Given the description of an element on the screen output the (x, y) to click on. 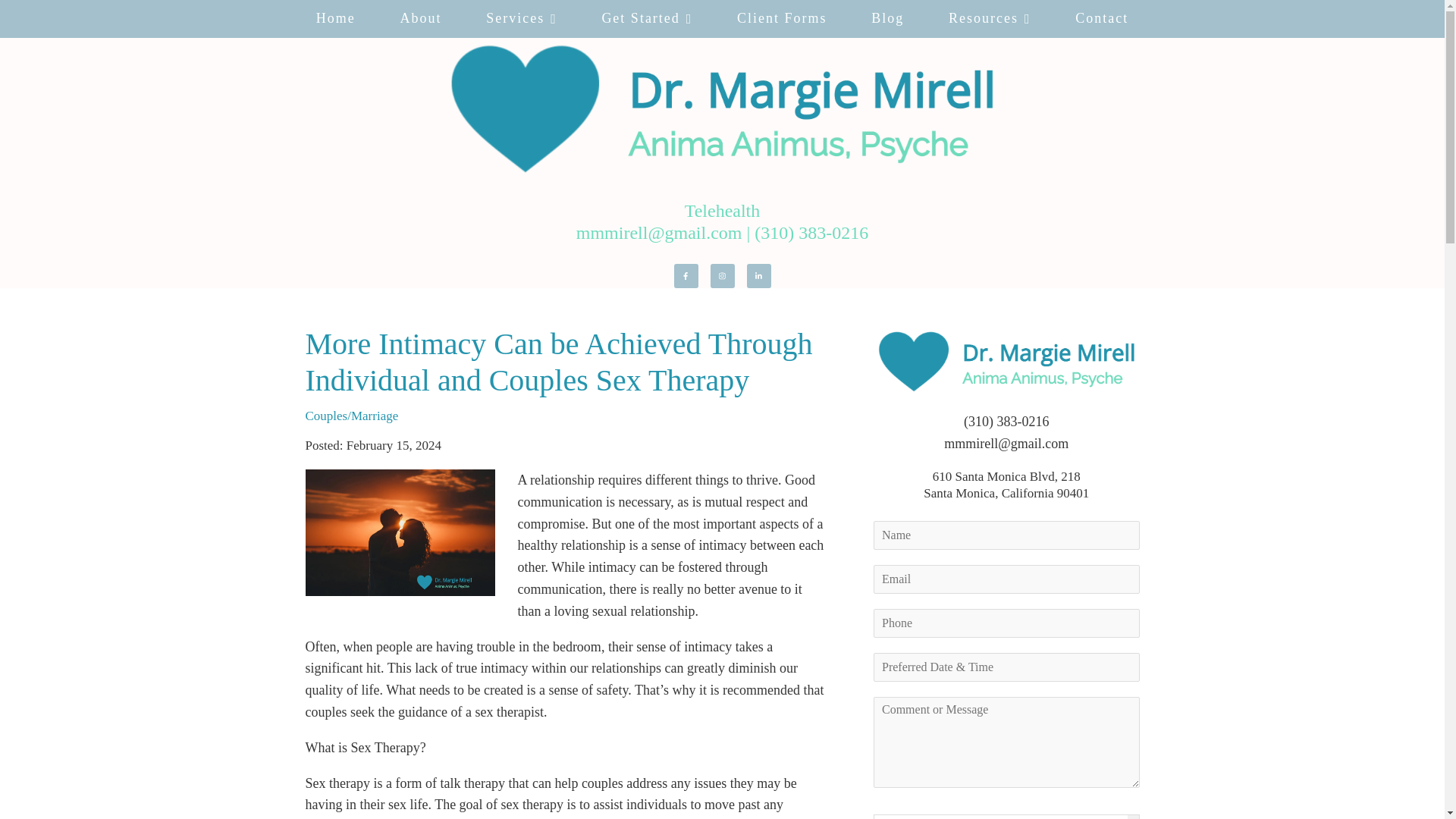
Services (521, 18)
Resources (989, 18)
Home (336, 18)
Blog (887, 18)
Contact (1101, 18)
Client Forms (781, 18)
Get Started (646, 18)
About (420, 18)
